Given the description of an element on the screen output the (x, y) to click on. 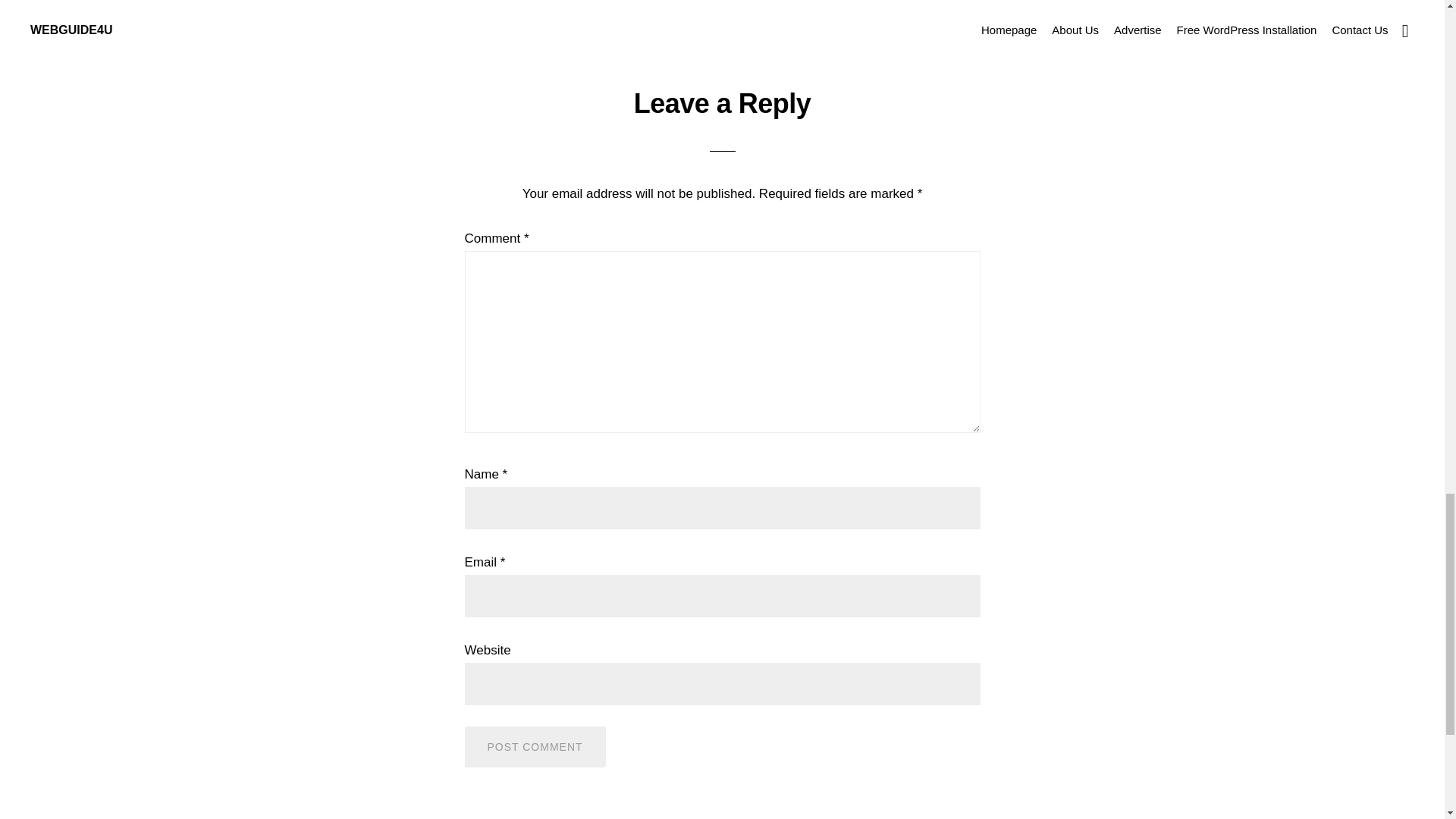
WordPress Plugins (526, 2)
Post Comment (534, 746)
Post Comment (534, 746)
